Given the description of an element on the screen output the (x, y) to click on. 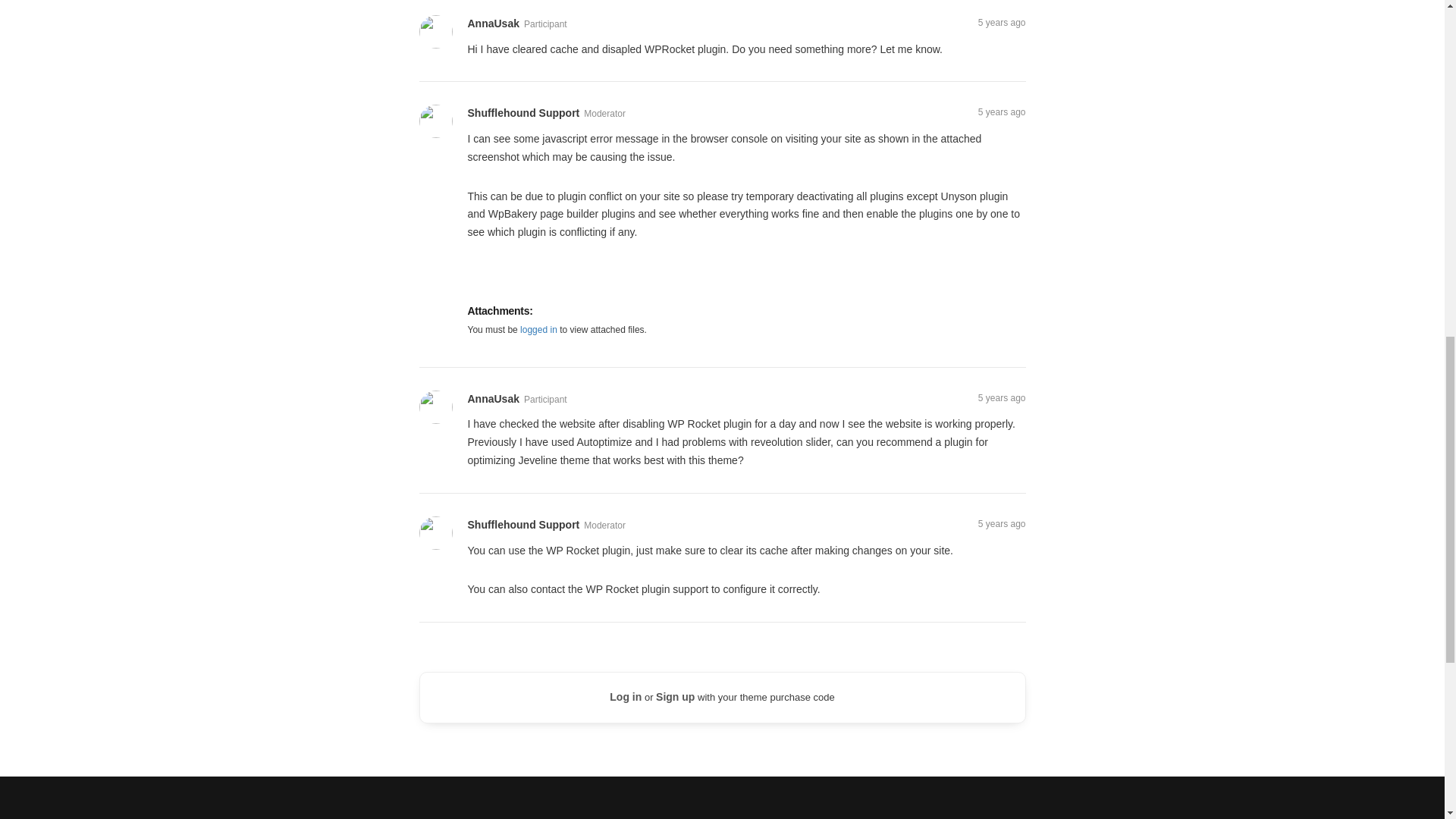
5 years ago (1002, 398)
5 years ago (1002, 523)
AnnaUsak (492, 399)
View AnnaUsak's profile (436, 406)
View Shufflehound Support's profile (436, 121)
View AnnaUsak's profile (436, 30)
AnnaUsak (492, 24)
Sign up (675, 696)
5 years ago (1002, 22)
View Shufflehound Support's profile (523, 525)
